Given the description of an element on the screen output the (x, y) to click on. 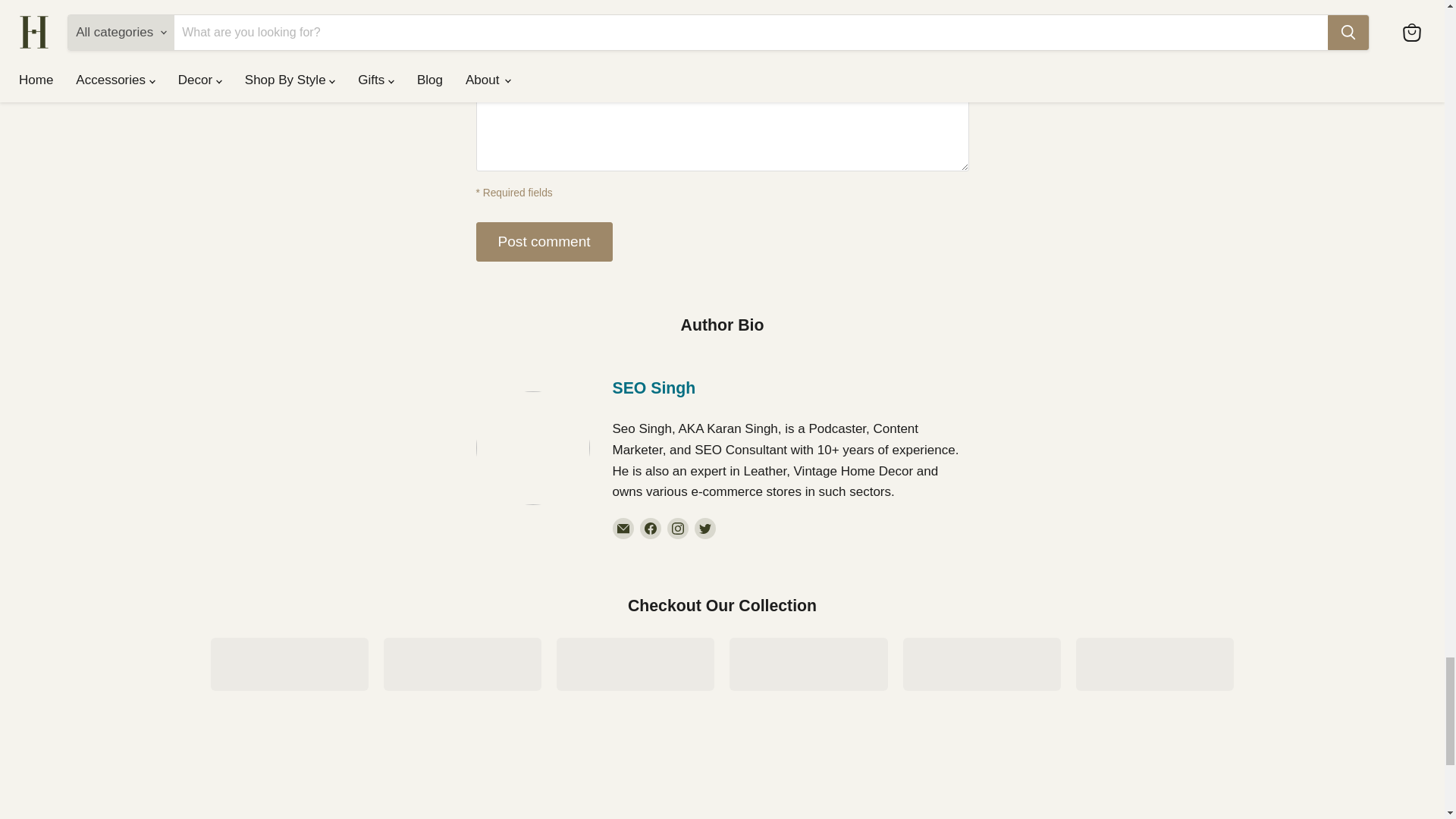
Facebook (650, 527)
Instagram (677, 527)
Email (622, 527)
Twitter (705, 527)
